Given the description of an element on the screen output the (x, y) to click on. 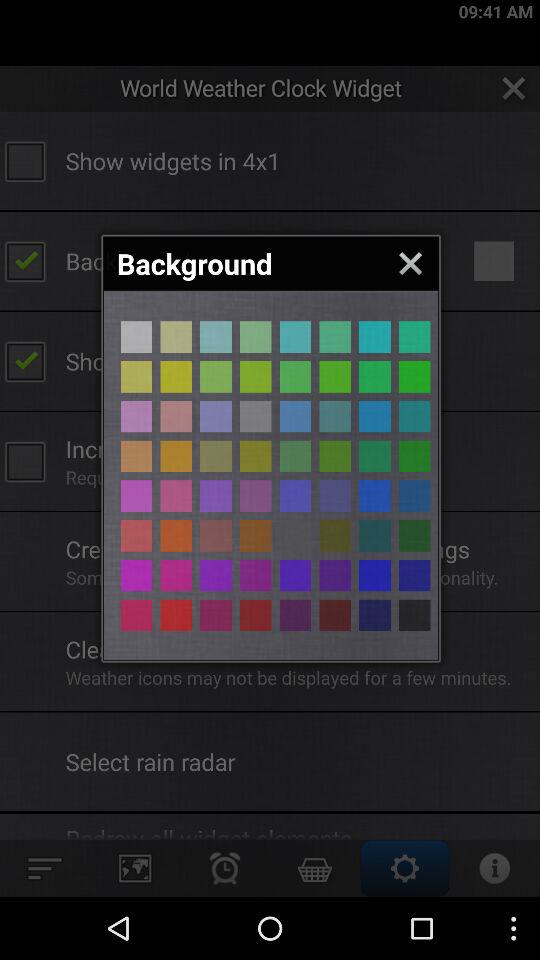
the button is used to color option (374, 535)
